Given the description of an element on the screen output the (x, y) to click on. 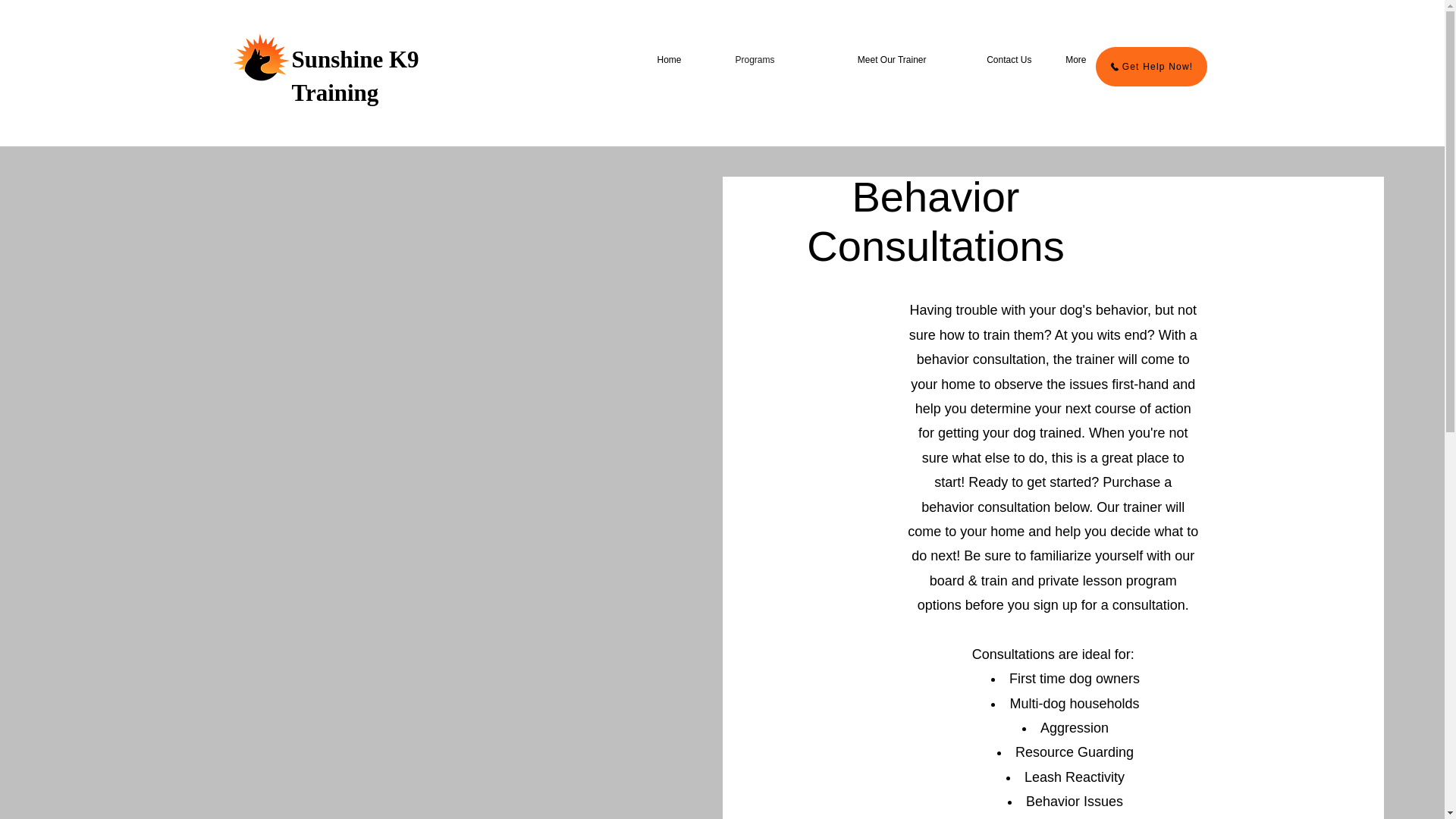
Get Help Now! (1150, 66)
Contact Us (986, 59)
Programs (734, 59)
Meet Our Trainer (858, 59)
Sunshine K9 Training (355, 75)
